Given the description of an element on the screen output the (x, y) to click on. 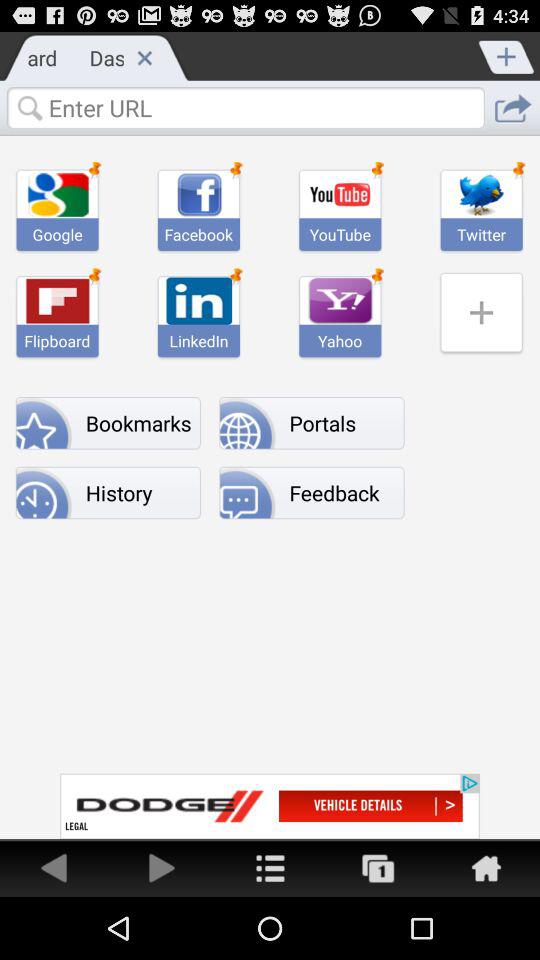
go to previous (54, 867)
